Given the description of an element on the screen output the (x, y) to click on. 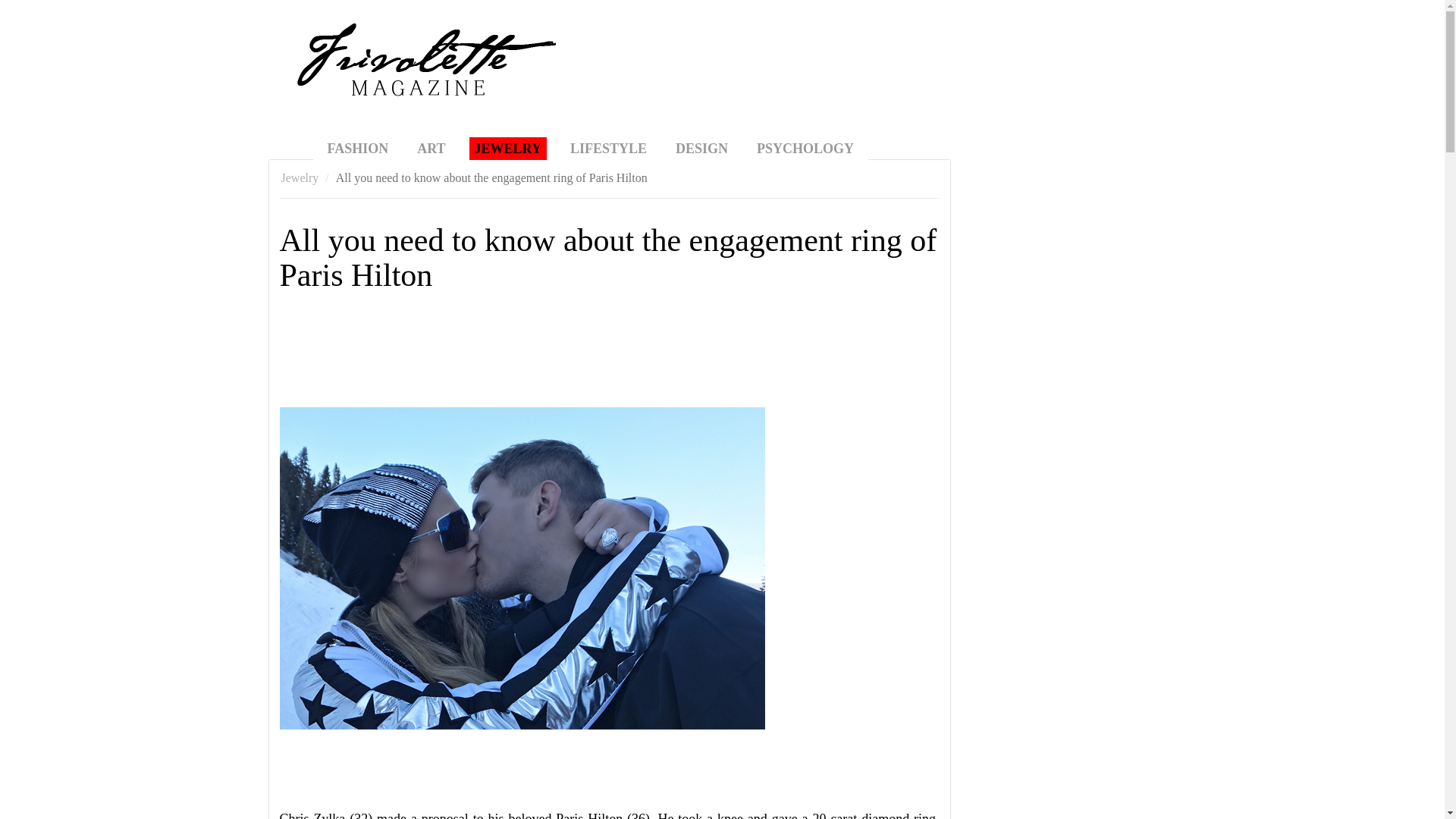
FASHION (357, 148)
Art (430, 148)
JEWELRY (507, 148)
Design (701, 148)
LIFESTYLE (608, 148)
DESIGN (701, 148)
ART (430, 148)
Fashion (357, 148)
Psychology (805, 148)
Jewelry (507, 148)
PSYCHOLOGY (805, 148)
Jewelry (299, 177)
Advertisement (555, 355)
Lifestyle (608, 148)
